Given the description of an element on the screen output the (x, y) to click on. 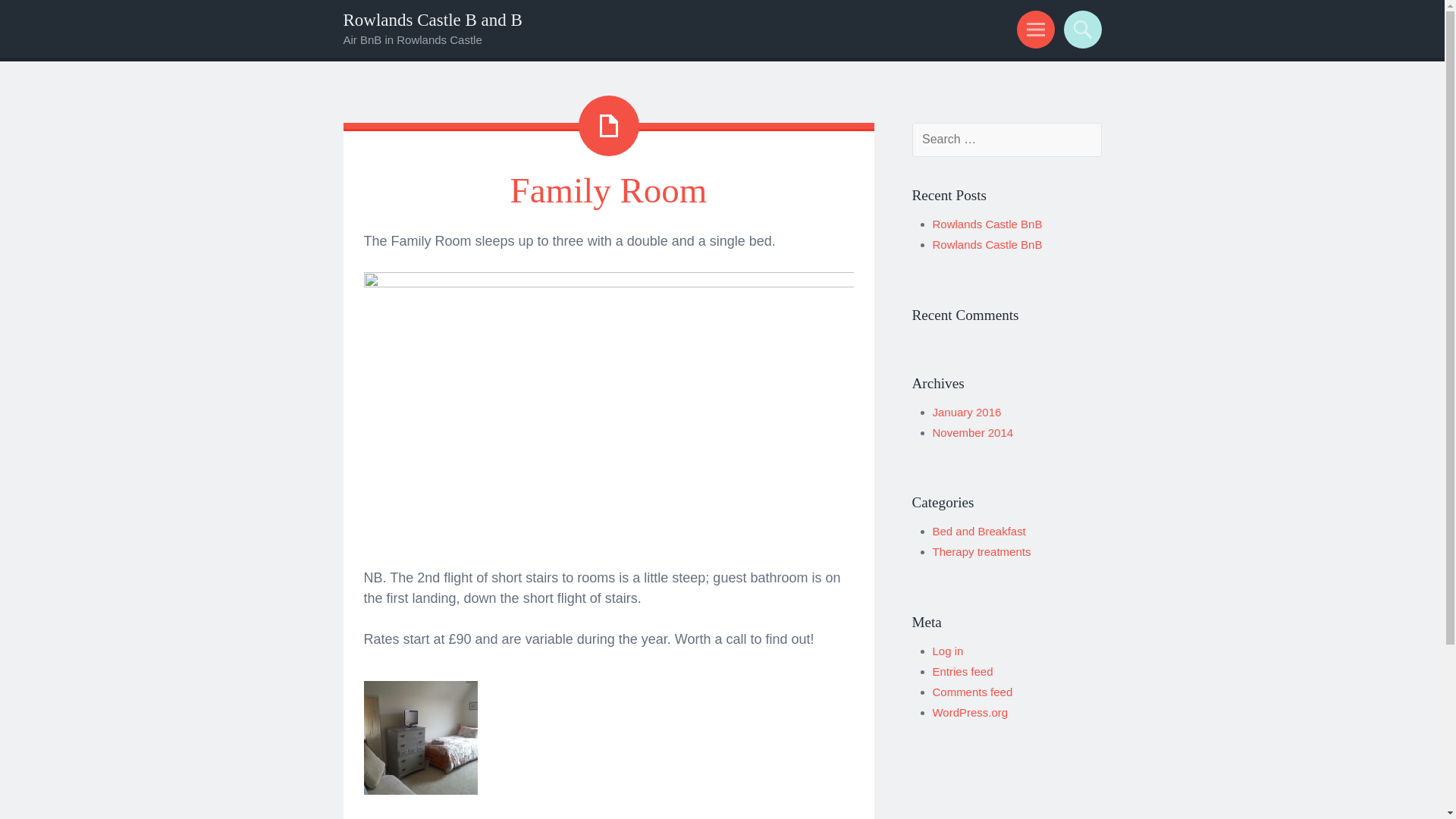
January 2016 (967, 411)
Rowlands Castle B and B (431, 19)
Bed and Breakfast (979, 530)
Comments feed (973, 691)
November 2014 (973, 431)
Rowlands Castle BnB (987, 244)
WordPress.org (971, 712)
Search (1080, 29)
Twin Dbl bed (608, 282)
Entries feed (962, 671)
